Given the description of an element on the screen output the (x, y) to click on. 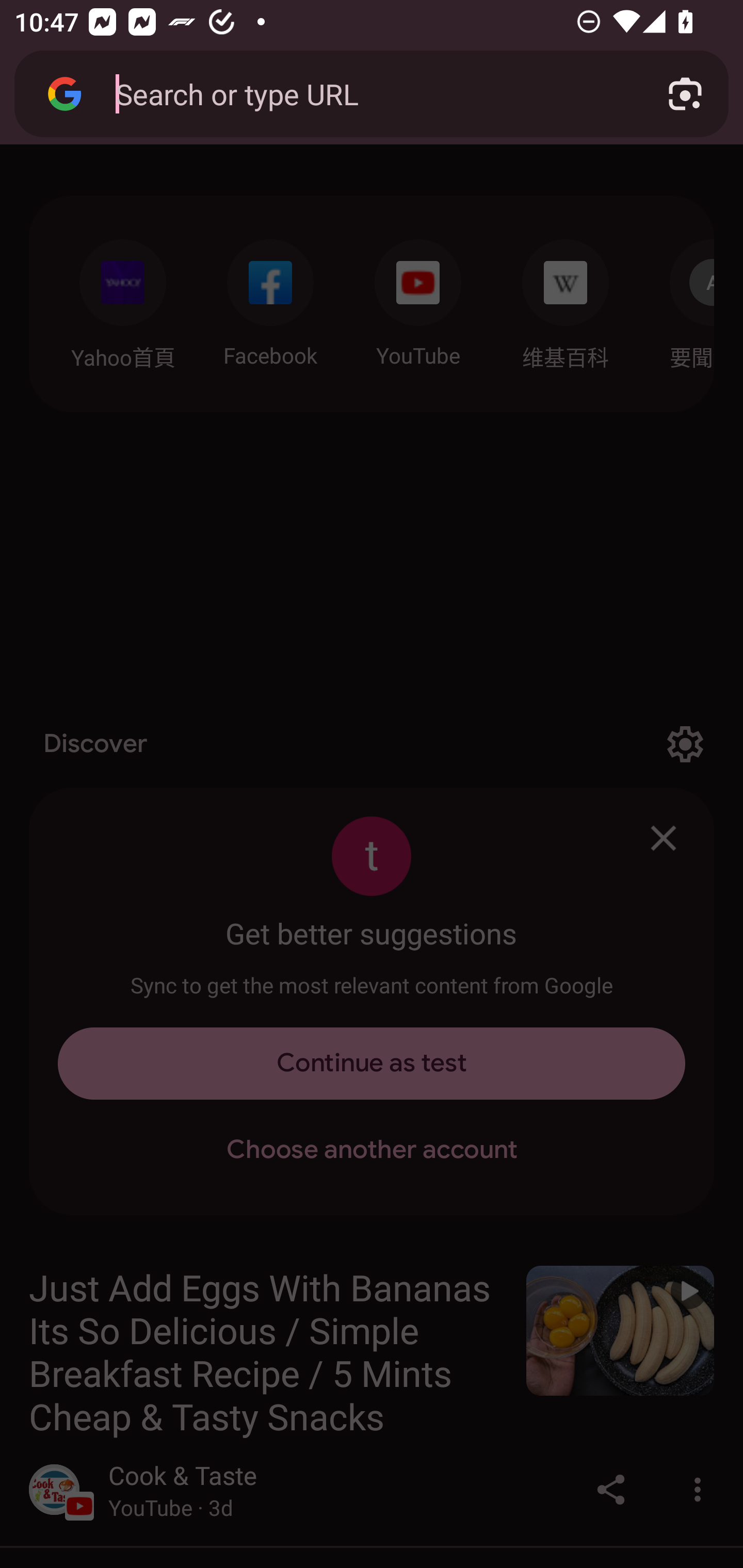
Search with your camera using Google Lens (684, 93)
Search or type URL (367, 92)
Navigate: Yahoo首頁: hk.mobi.yahoo.com Yahoo首頁 (122, 299)
Navigate: Facebook: m.facebook.com Facebook (270, 297)
Navigate: YouTube: m.youtube.com YouTube (417, 297)
Navigate: 维基百科: zh.m.wikipedia.org 维基百科 (565, 299)
Options for Discover (684, 743)
Close (663, 837)
Continue as test (371, 1063)
Choose another account (371, 1150)
